Given the description of an element on the screen output the (x, y) to click on. 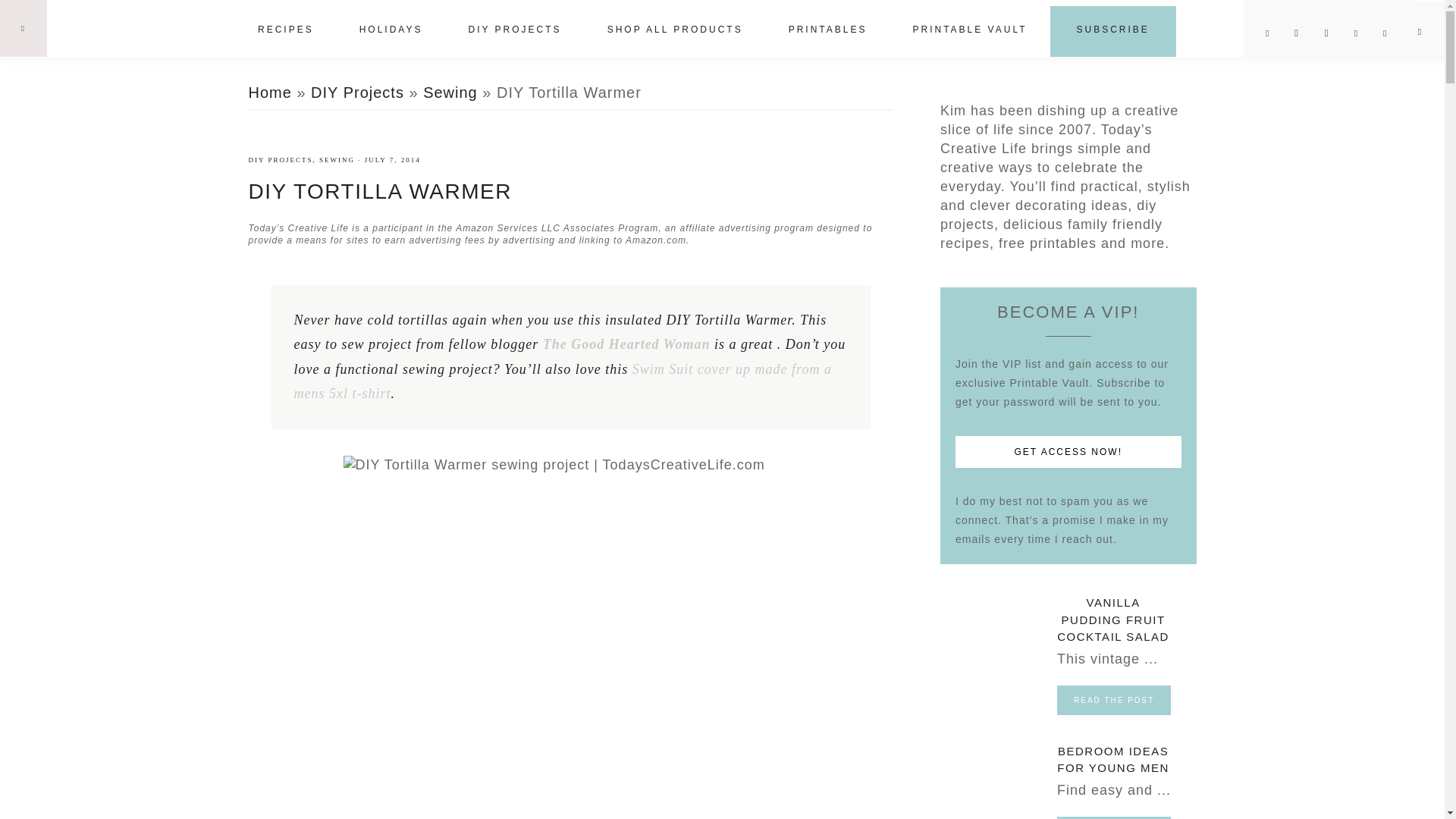
The Good Hearted Woman (626, 344)
Swim Suit cover up made from a mens 5xl t-shirt (562, 381)
DIY Projects (357, 92)
TODAY'S CREATIVE LIFE (141, 27)
DIY PROJECTS (514, 30)
SUBSCRIBE (1113, 30)
SHOP ALL PRODUCTS (675, 30)
PRINTABLES (827, 30)
SEWING (336, 159)
Sewing (450, 92)
Facebook (1303, 32)
Home (270, 92)
HOLIDAYS (390, 30)
PRINTABLE VAULT (969, 30)
RECIPES (285, 30)
